Given the description of an element on the screen output the (x, y) to click on. 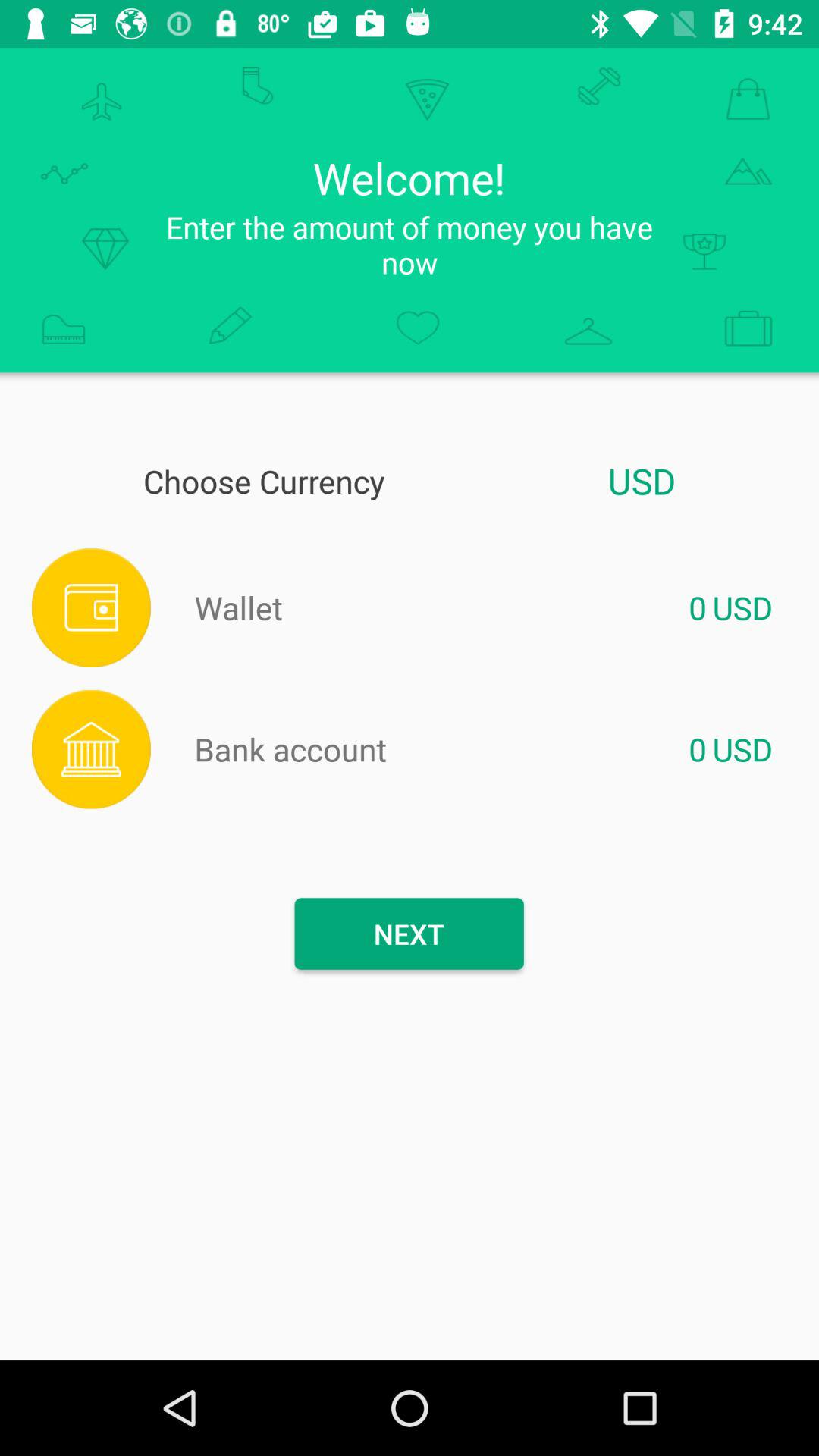
enter amount (494, 607)
